Given the description of an element on the screen output the (x, y) to click on. 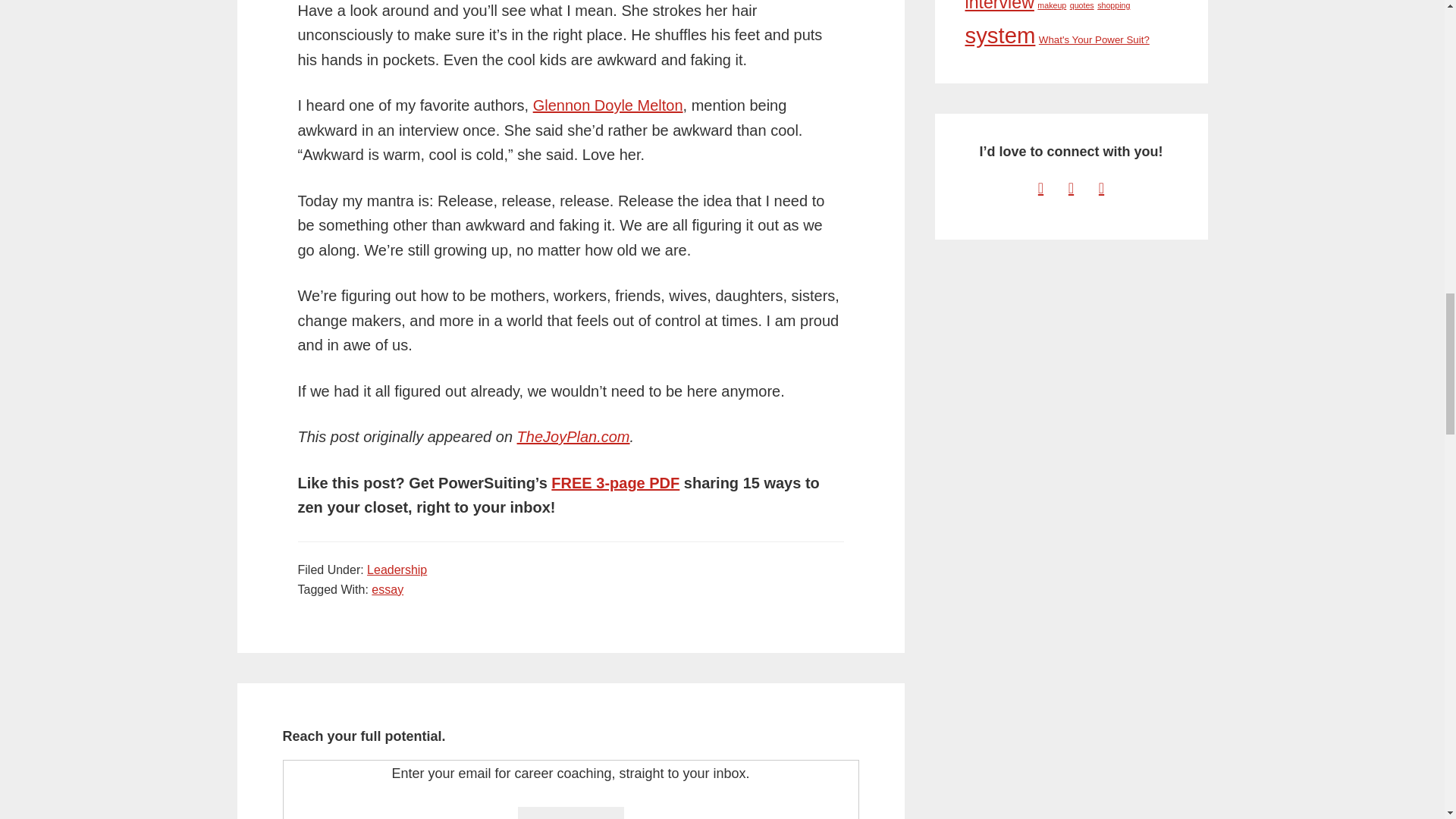
TheJoyPlan.com (573, 436)
Twitter (1040, 187)
Glennon Doyle Melton (607, 105)
Pinterest (1101, 187)
Leadership (396, 569)
LinkedIn (1070, 187)
essay (387, 589)
FREE 3-page PDF (615, 483)
